Given the description of an element on the screen output the (x, y) to click on. 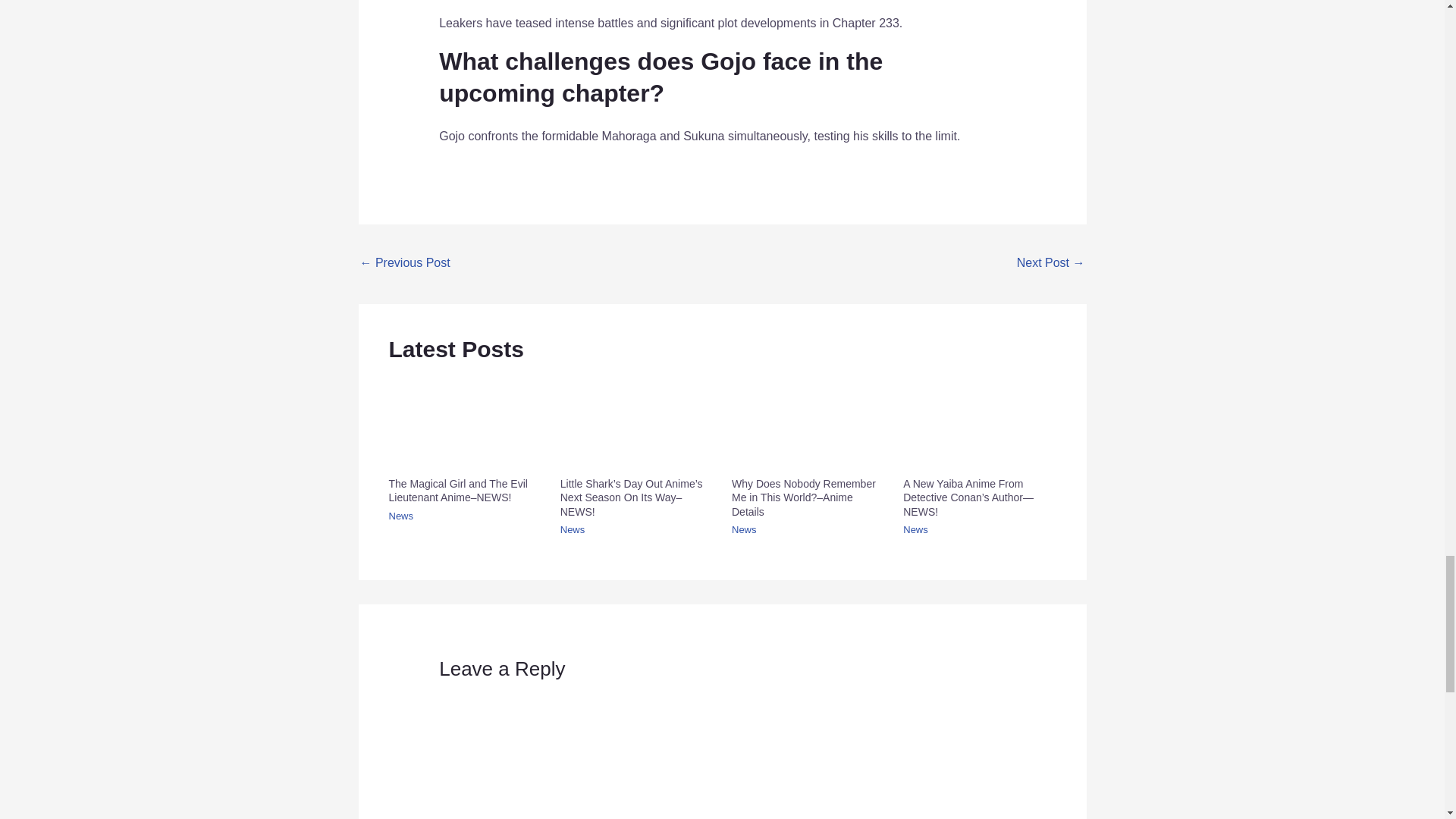
Comment Form (722, 752)
Shangri-La Frontier Reveals October 1 Premiere (1050, 264)
Why Does Nobody Remember Me in This World?--Anime Details 5 (807, 422)
